Given the description of an element on the screen output the (x, y) to click on. 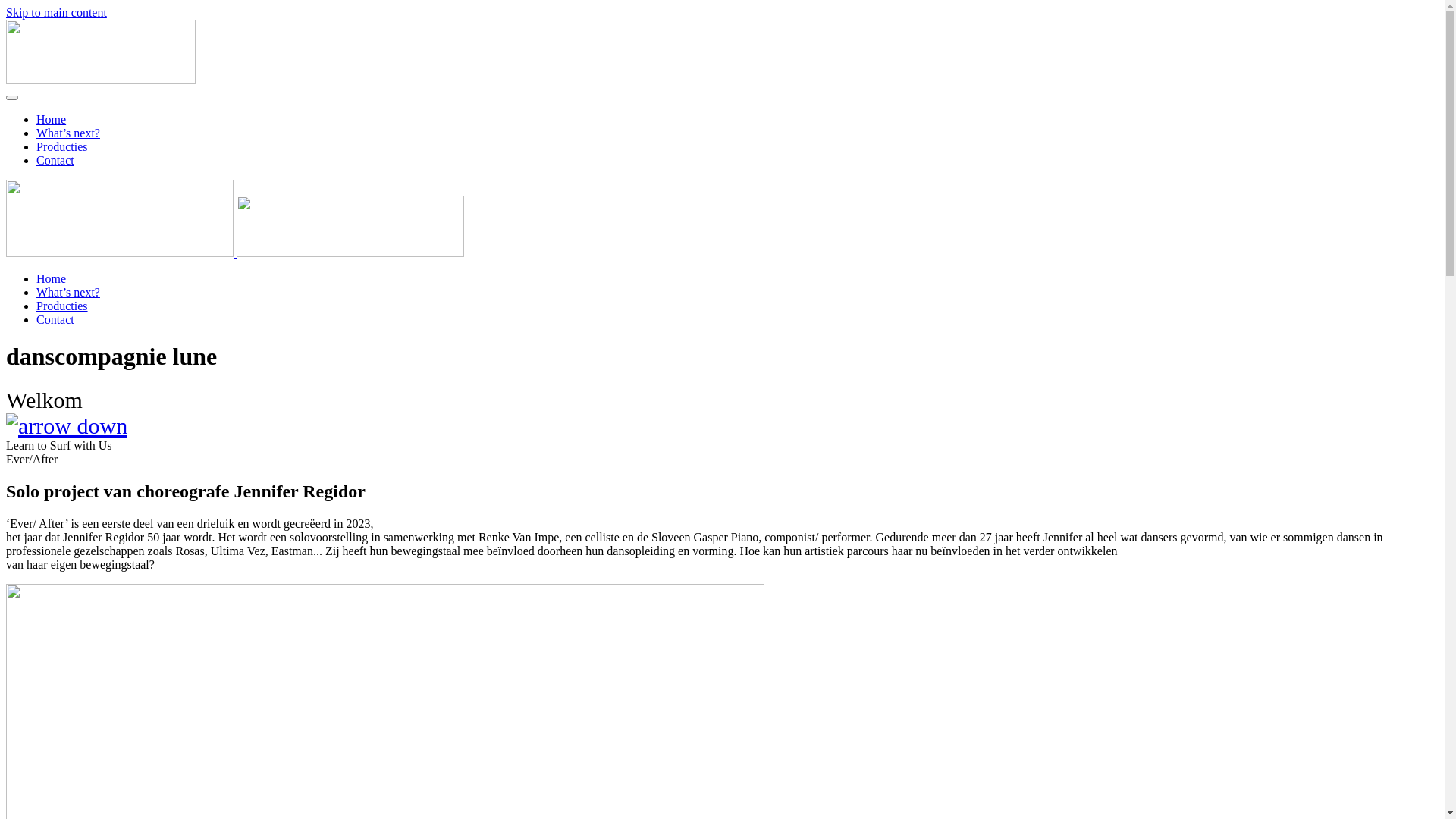
Producties Element type: text (61, 305)
Producties Element type: text (61, 146)
Contact Element type: text (55, 319)
Home Element type: text (50, 118)
Contact Element type: text (55, 159)
Home Element type: text (50, 278)
Skip to main content Element type: text (56, 12)
